Given the description of an element on the screen output the (x, y) to click on. 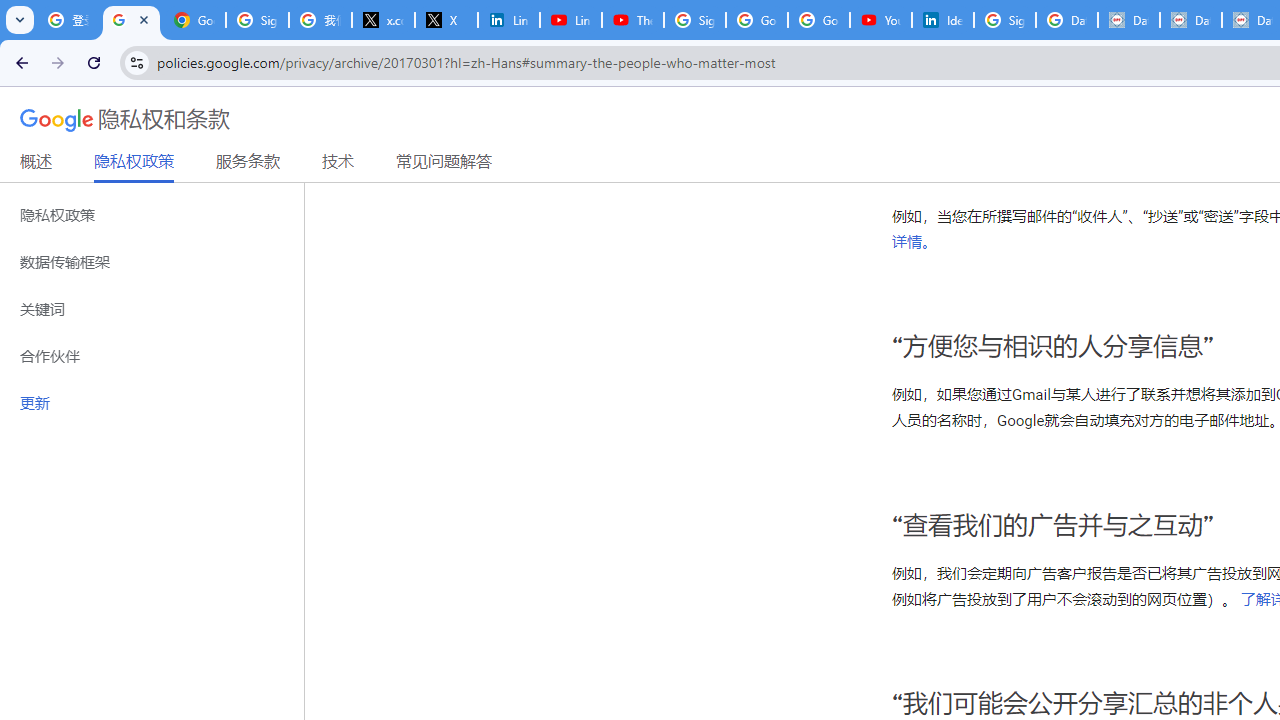
Data Privacy Framework (1190, 20)
Data Privacy Framework (1128, 20)
LinkedIn Privacy Policy (508, 20)
Sign in - Google Accounts (257, 20)
LinkedIn - YouTube (570, 20)
